Given the description of an element on the screen output the (x, y) to click on. 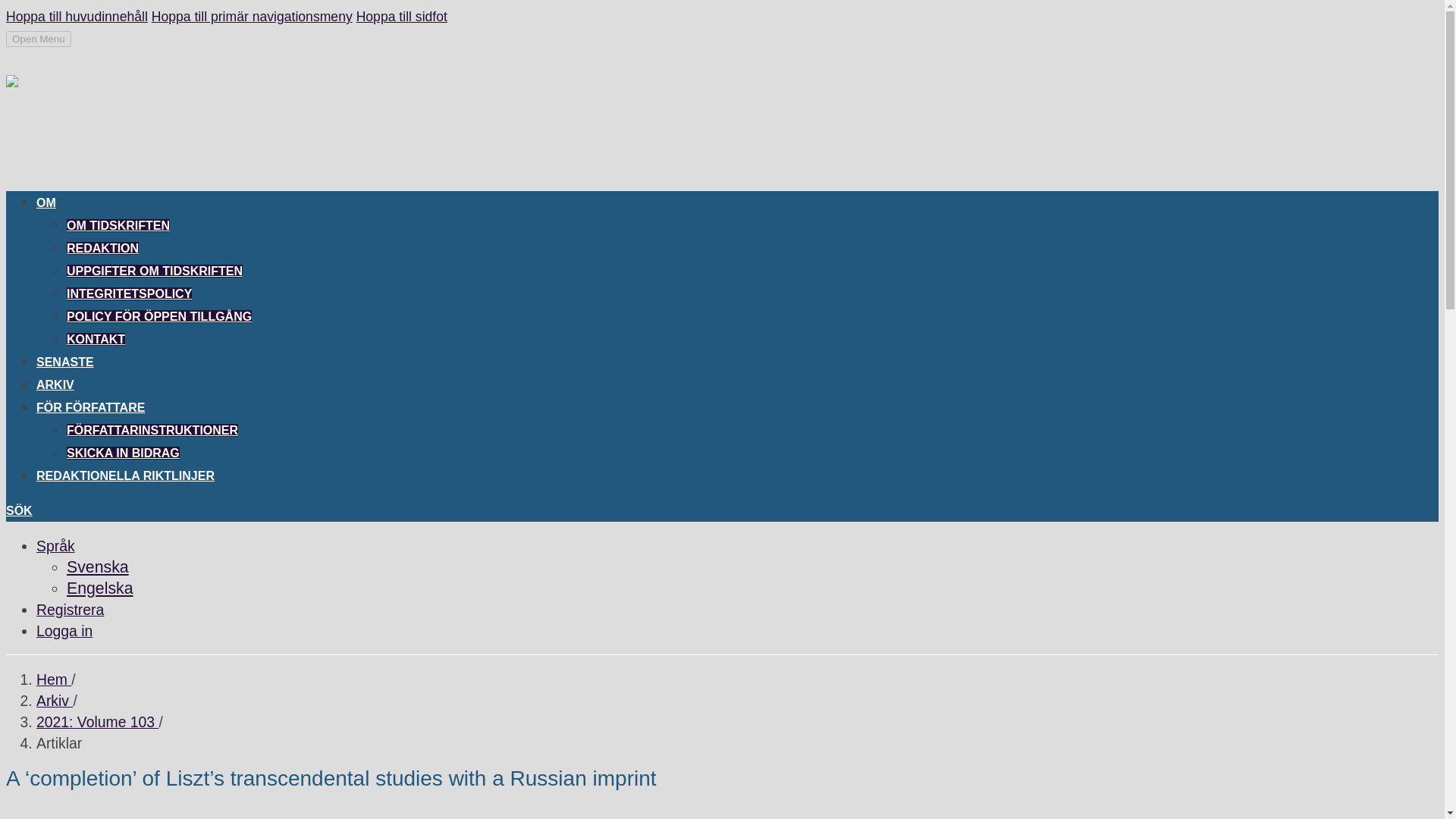
UPPGIFTER OM TIDSKRIFTEN (154, 270)
REDAKTION (102, 247)
Engelska (99, 588)
REDAKTIONELLA RIKTLINJER (125, 477)
OM (46, 204)
ARKIV (55, 386)
Logga in (64, 630)
KONTAKT (95, 338)
Registrera (69, 609)
Hoppa till sidfot (401, 16)
